Given the description of an element on the screen output the (x, y) to click on. 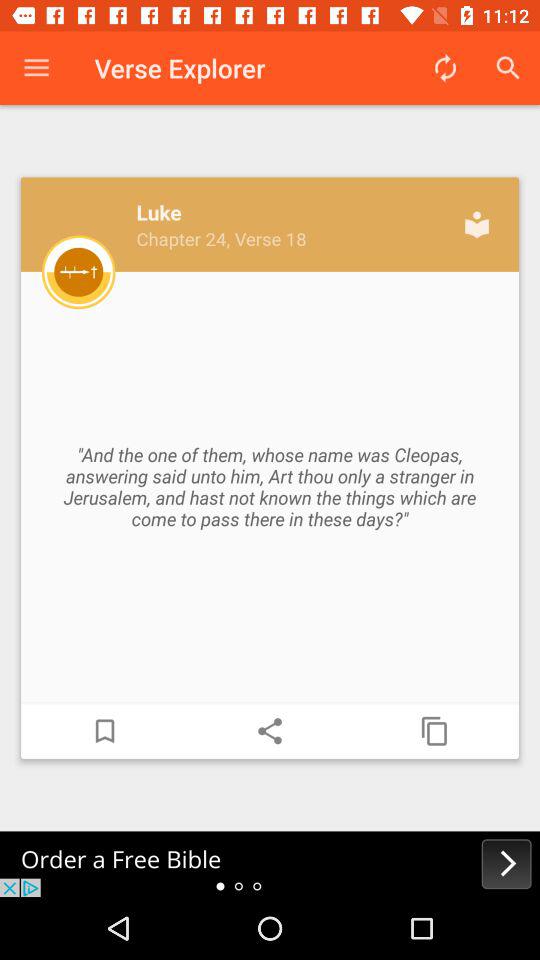
copy quote (435, 731)
